Given the description of an element on the screen output the (x, y) to click on. 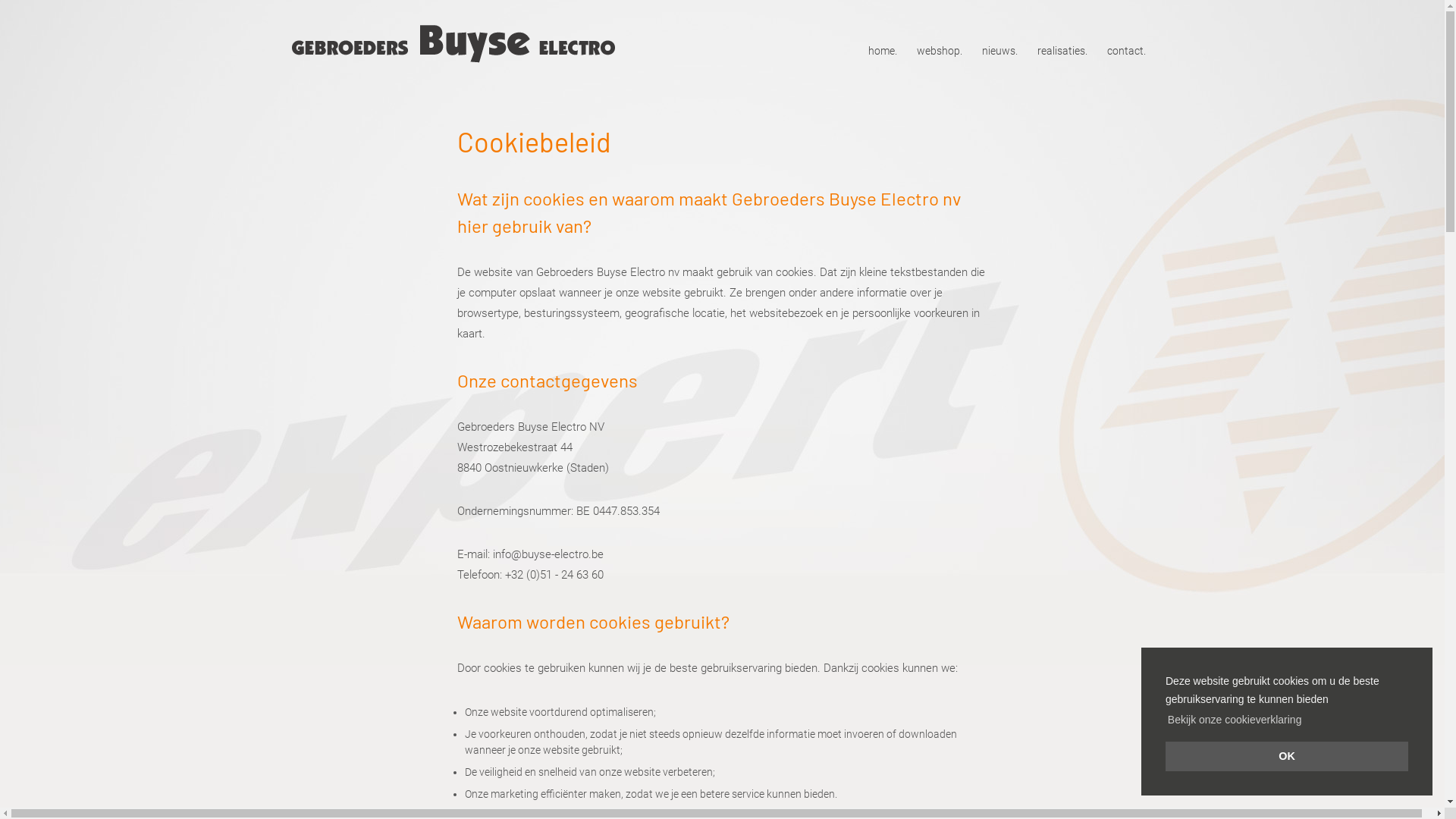
OK Element type: text (1286, 756)
home. Element type: text (881, 50)
Bekijk onze cookieverklaring Element type: text (1234, 719)
nieuws. Element type: text (999, 50)
webshop. Element type: text (938, 50)
realisaties. Element type: text (1062, 50)
contact. Element type: text (1126, 50)
